Given the description of an element on the screen output the (x, y) to click on. 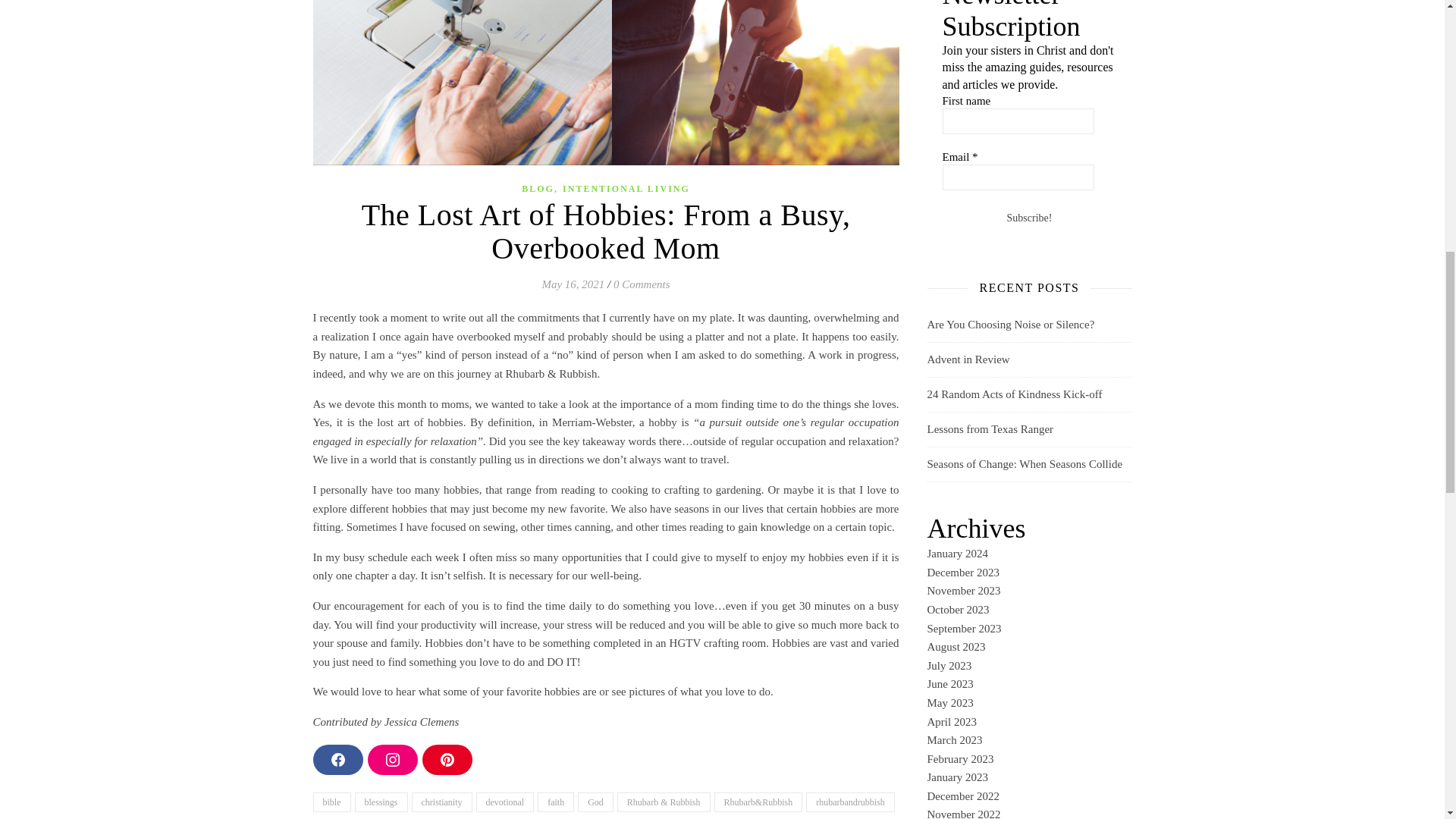
Facebook (337, 759)
Email (1017, 177)
First name (1017, 121)
Instagram (391, 759)
Subscribe! (1029, 217)
Pinterest (446, 759)
